Given the description of an element on the screen output the (x, y) to click on. 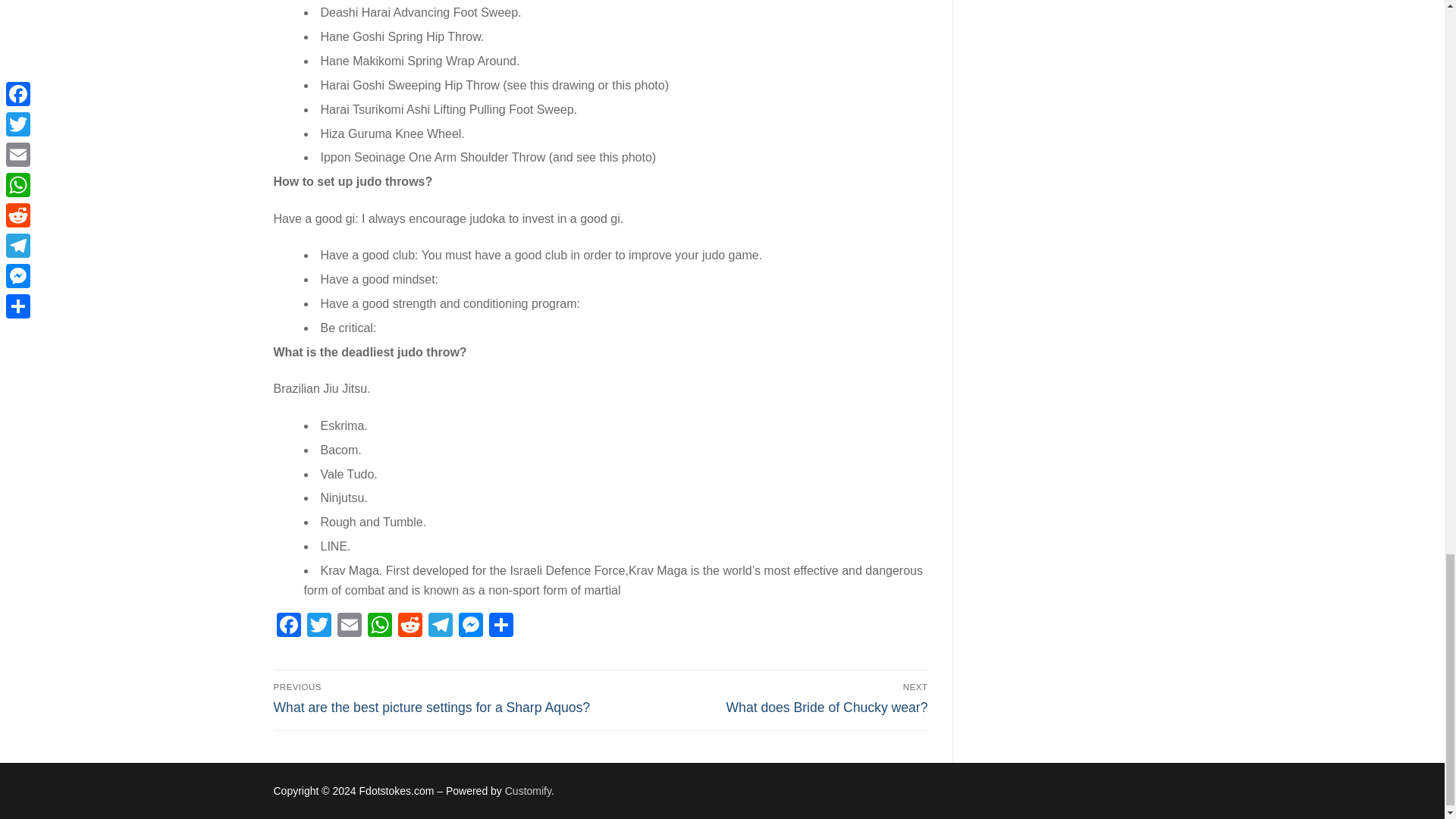
Telegram (439, 626)
Facebook (287, 626)
Twitter (317, 626)
WhatsApp (379, 626)
Reddit (409, 626)
Reddit (409, 626)
Facebook (287, 626)
WhatsApp (379, 626)
Telegram (439, 626)
Twitter (317, 626)
